Given the description of an element on the screen output the (x, y) to click on. 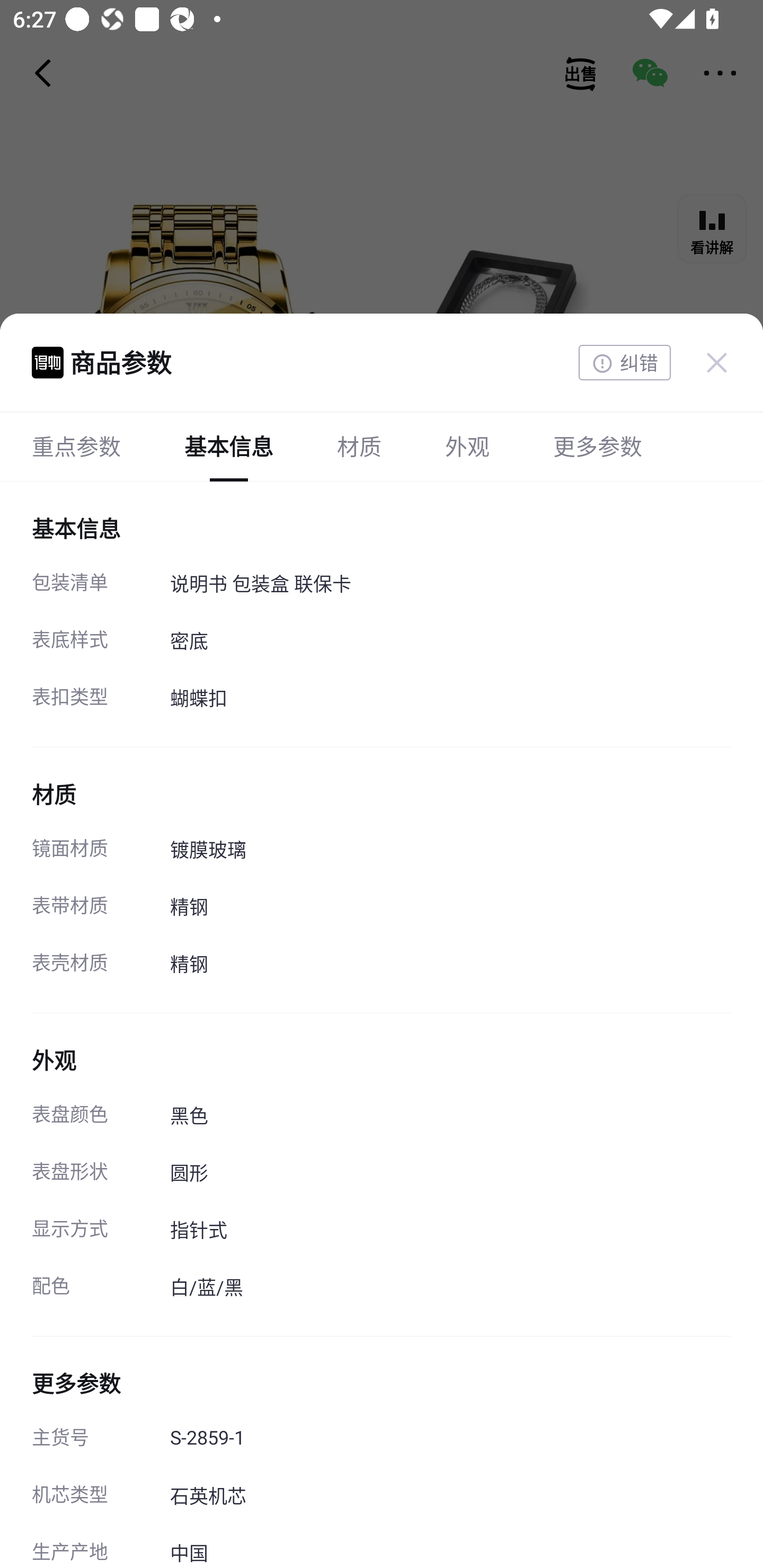
 (716, 362)
纠错 (624, 362)
重点参数 (76, 445)
基本信息 (228, 445)
材质 (359, 445)
外观 (467, 445)
更多参数 (597, 445)
说明书 包装盒 联保卡 (450, 584)
密底 (450, 642)
蝴蝶扣 (450, 699)
镀膜玻璃 (450, 850)
精钢 (450, 907)
精钢 (450, 965)
黑色 (450, 1116)
圆形 (450, 1173)
指针式 (450, 1230)
白/蓝/黑 (450, 1288)
S-2859-1 (450, 1439)
石英机芯 (450, 1496)
中国 (450, 1546)
